Given the description of an element on the screen output the (x, y) to click on. 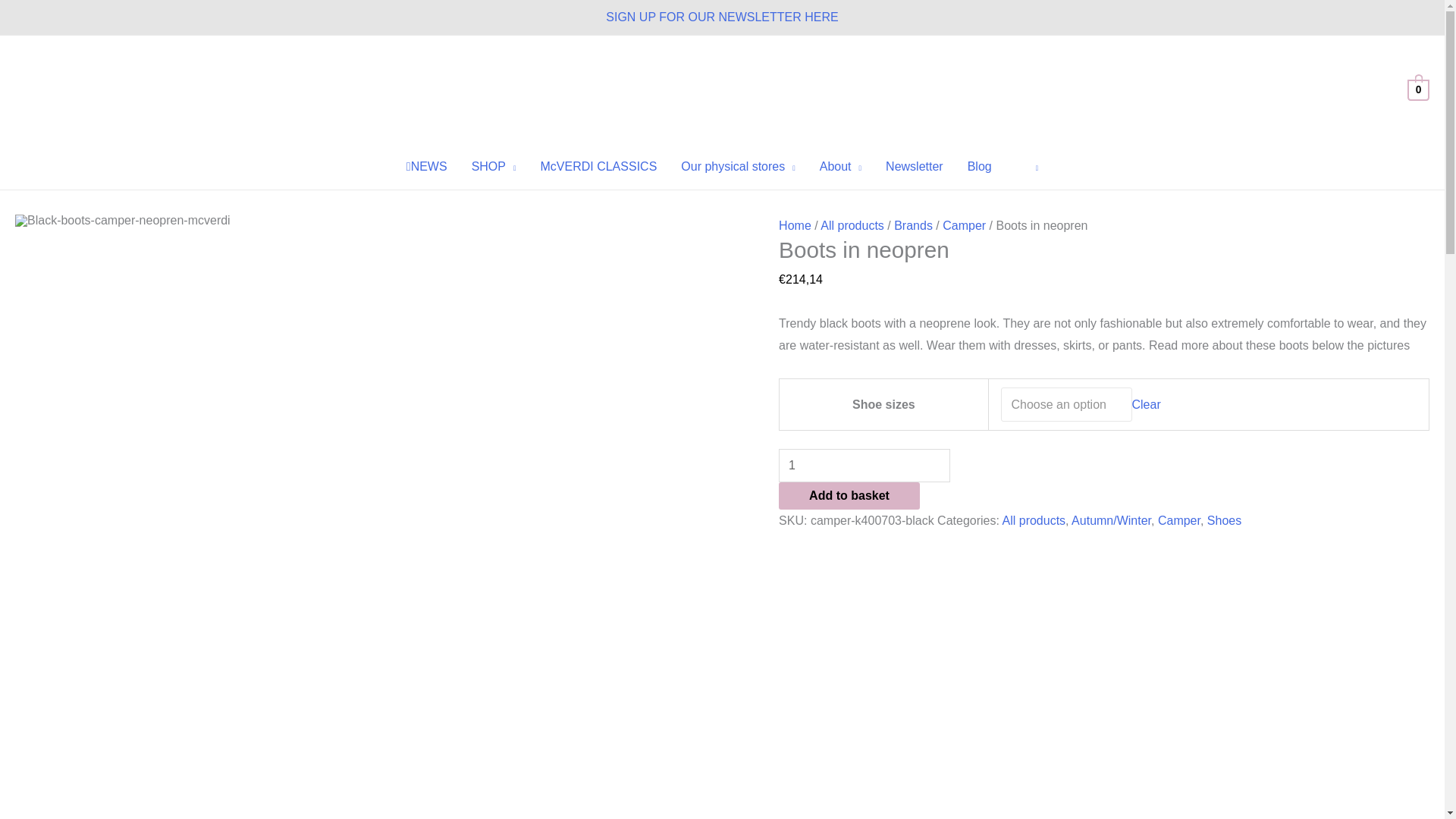
0 (1418, 88)
SHOP (494, 166)
1 (864, 465)
SIGN UP FOR OUR NEWSLETTER HERE (721, 16)
